Given the description of an element on the screen output the (x, y) to click on. 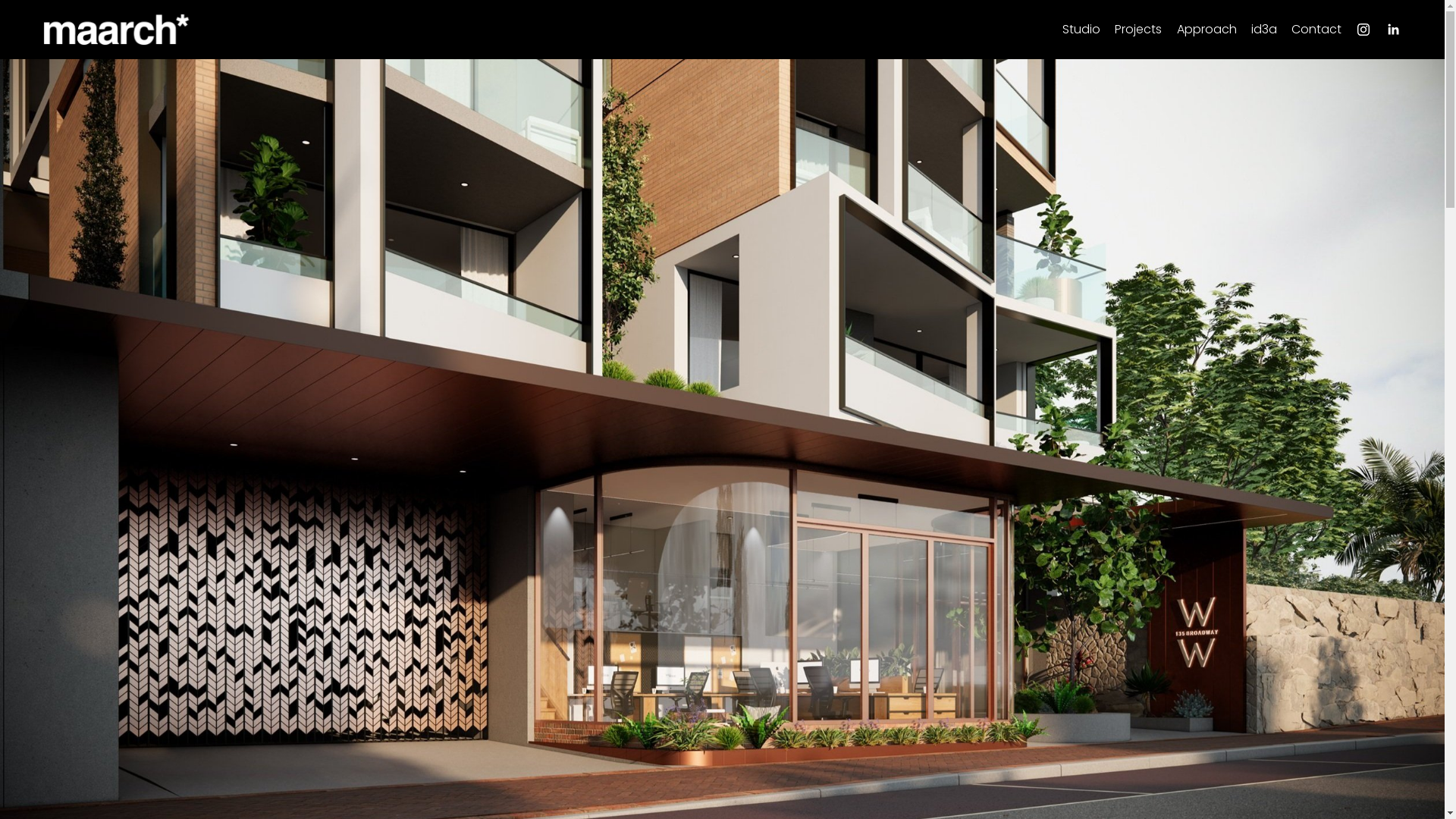
Projects Element type: text (1137, 29)
Approach Element type: text (1206, 29)
id3a Element type: text (1264, 29)
Contact Element type: text (1316, 29)
Studio Element type: text (1081, 29)
